Given the description of an element on the screen output the (x, y) to click on. 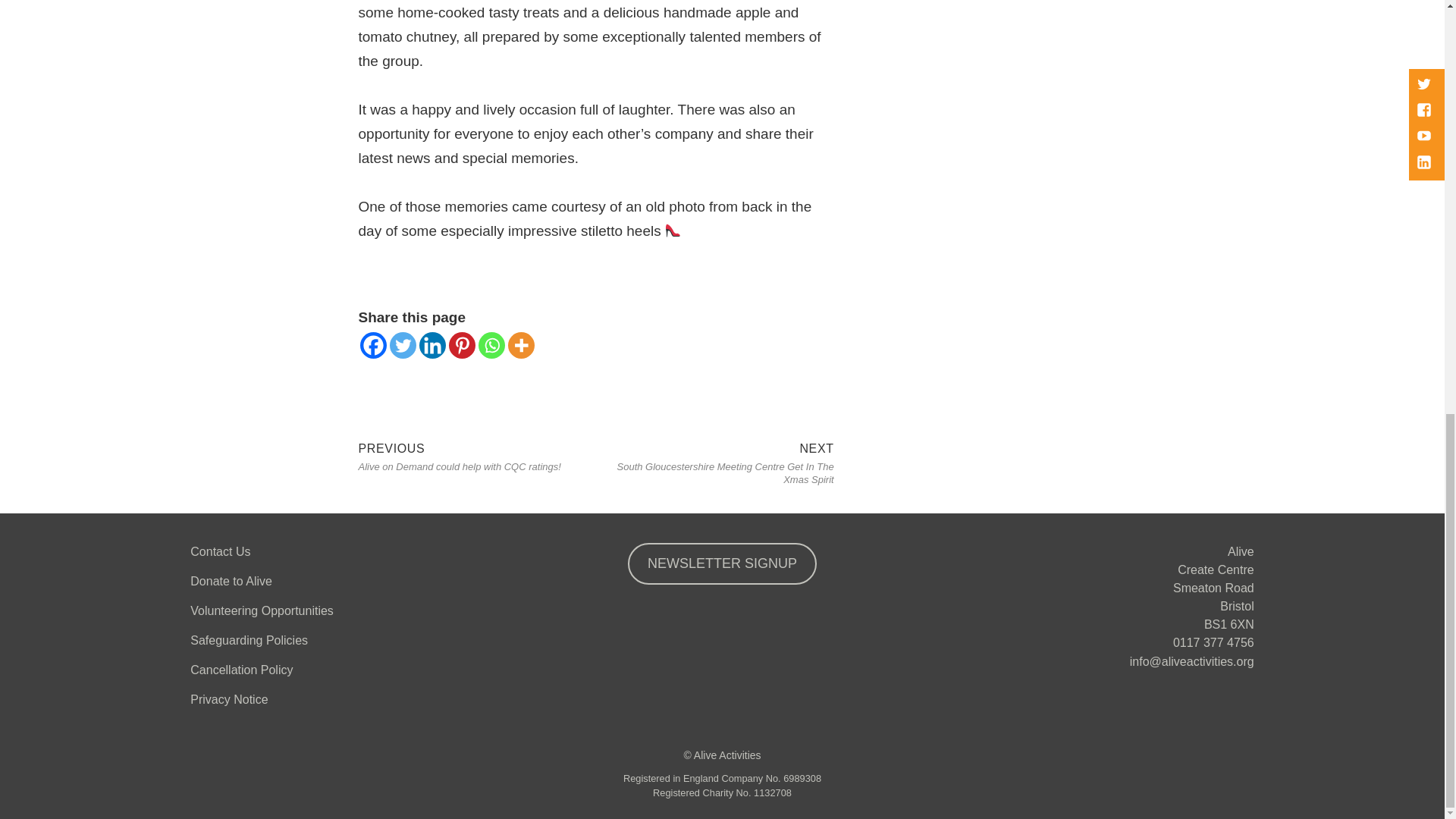
Linkedin (432, 345)
Twitter (403, 345)
Pinterest (462, 345)
Whatsapp (490, 345)
Alive Activities (727, 754)
More (521, 345)
Facebook (372, 345)
